Given the description of an element on the screen output the (x, y) to click on. 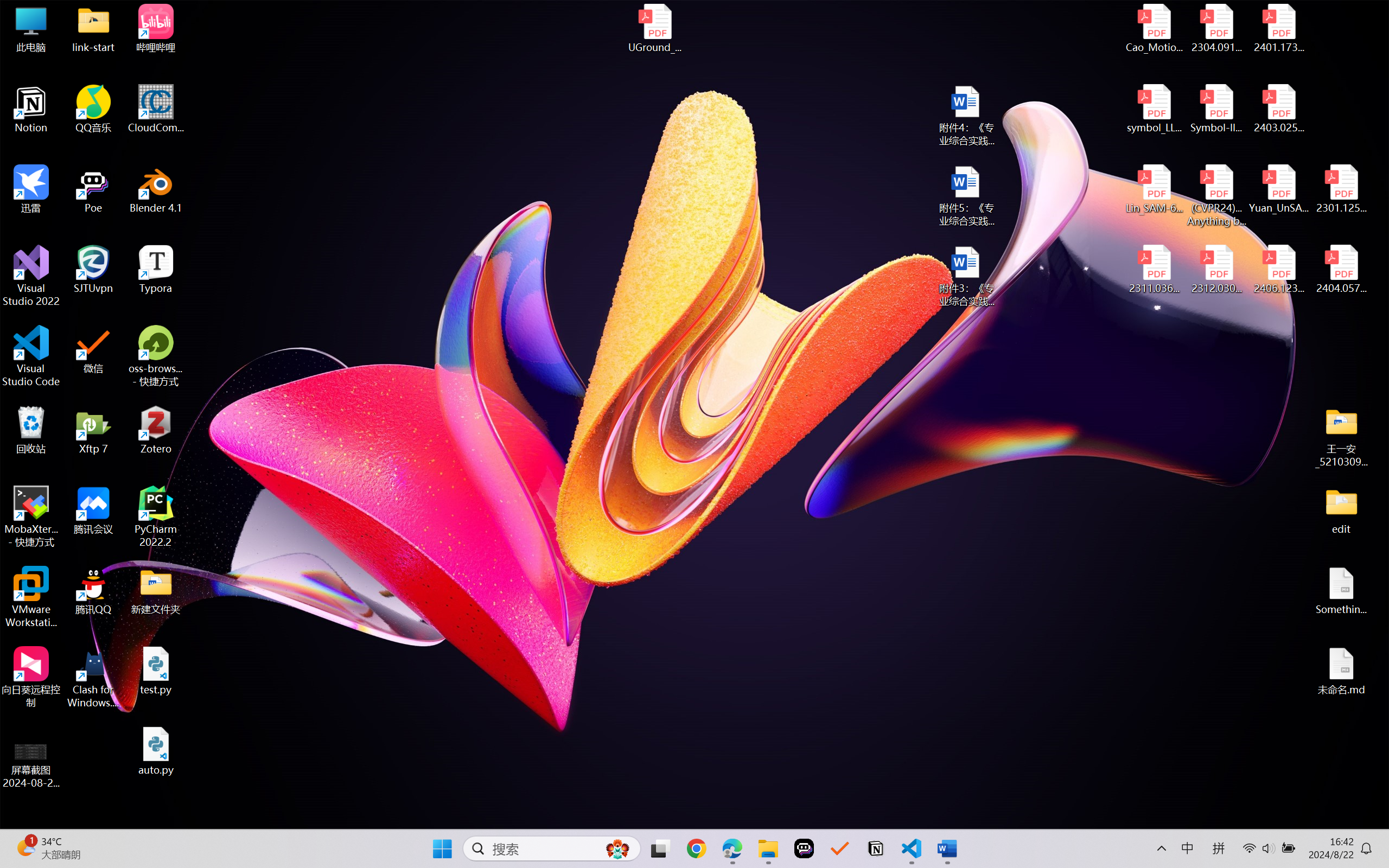
PyCharm 2022.2 (156, 516)
VMware Workstation Pro (31, 597)
Typora (156, 269)
2311.03658v2.pdf (1154, 269)
SJTUvpn (93, 269)
